Given the description of an element on the screen output the (x, y) to click on. 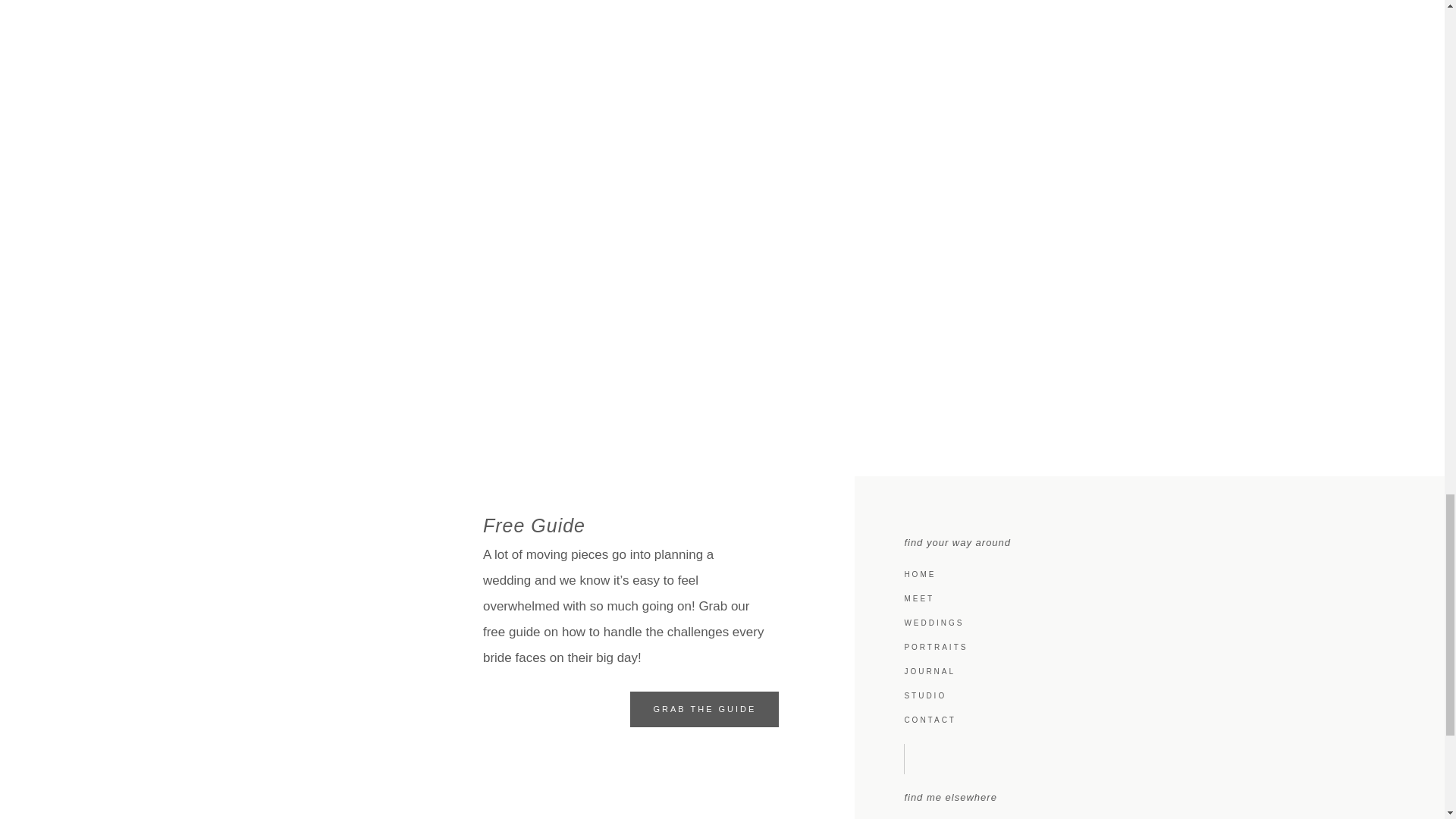
STUDIO (1157, 695)
PORTRAITS (1157, 647)
MEET (1157, 598)
HOME (1157, 574)
CONTACT (1157, 720)
WEDDINGS (1157, 622)
JOURNAL (1157, 671)
GRAB THE GUIDE (704, 709)
